Given the description of an element on the screen output the (x, y) to click on. 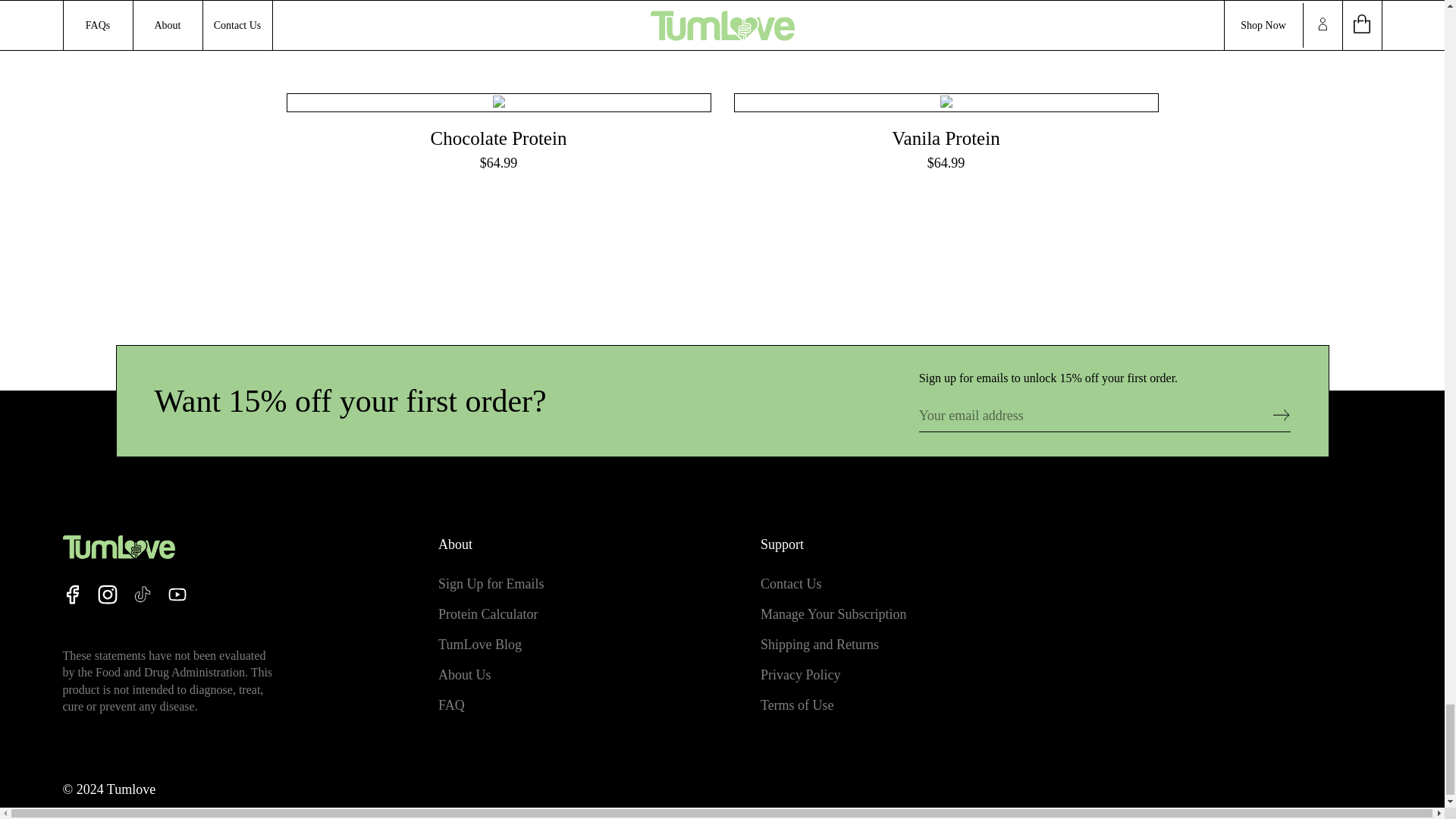
Tweet on Twitter (723, 0)
Share on Facebook (651, 0)
Pin on Pinterest (793, 0)
